Given the description of an element on the screen output the (x, y) to click on. 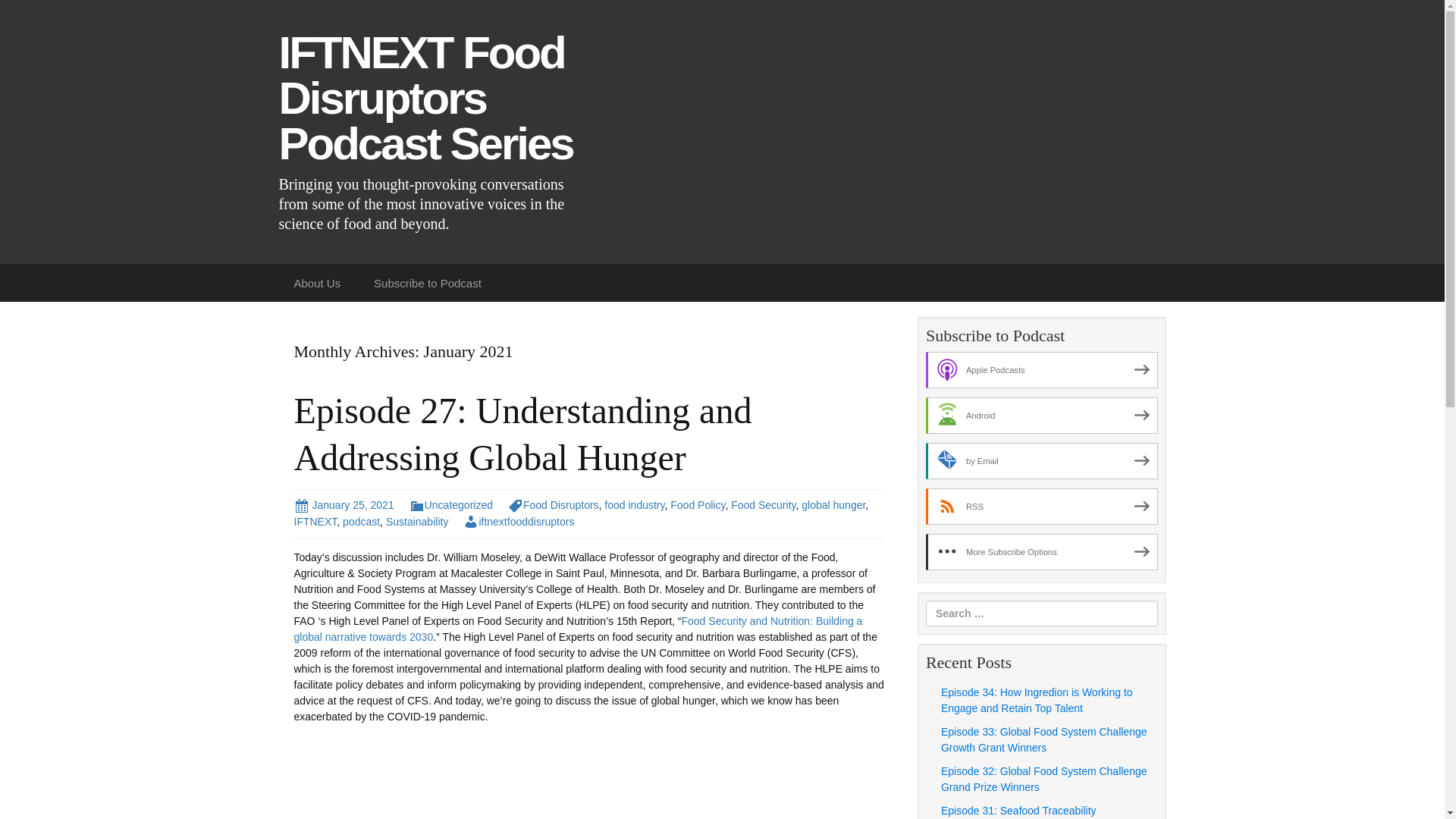
January 25, 2021 (344, 504)
global hunger (833, 504)
Episode 27: Understanding and Addressing Global Hunger (523, 433)
Blubrry Podcast Player (589, 778)
Food Policy (697, 504)
IFTNEXT (315, 521)
iftnextfooddisruptors (518, 521)
About Us (317, 282)
